Given the description of an element on the screen output the (x, y) to click on. 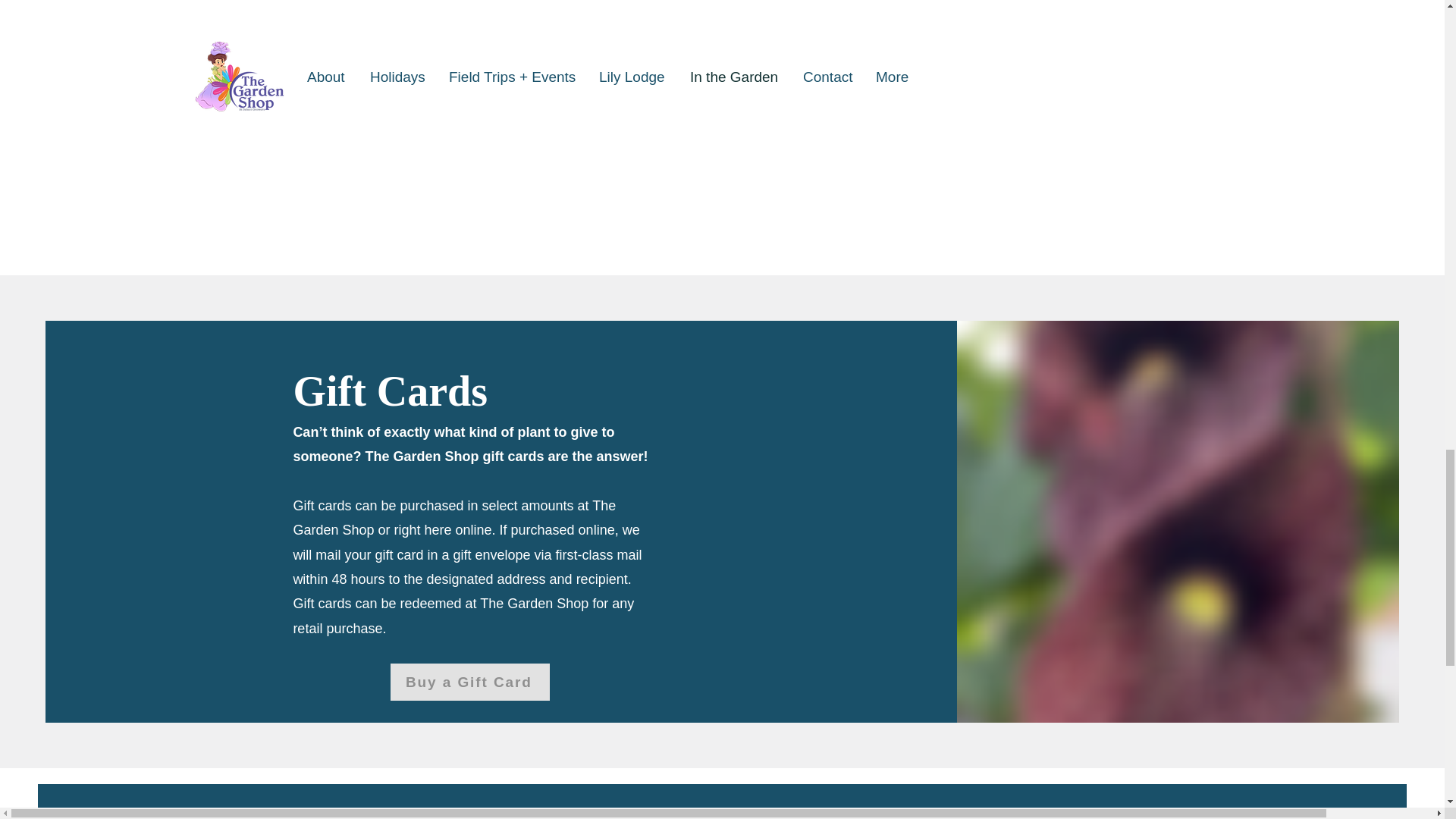
Buy a Gift Card (470, 682)
